Given the description of an element on the screen output the (x, y) to click on. 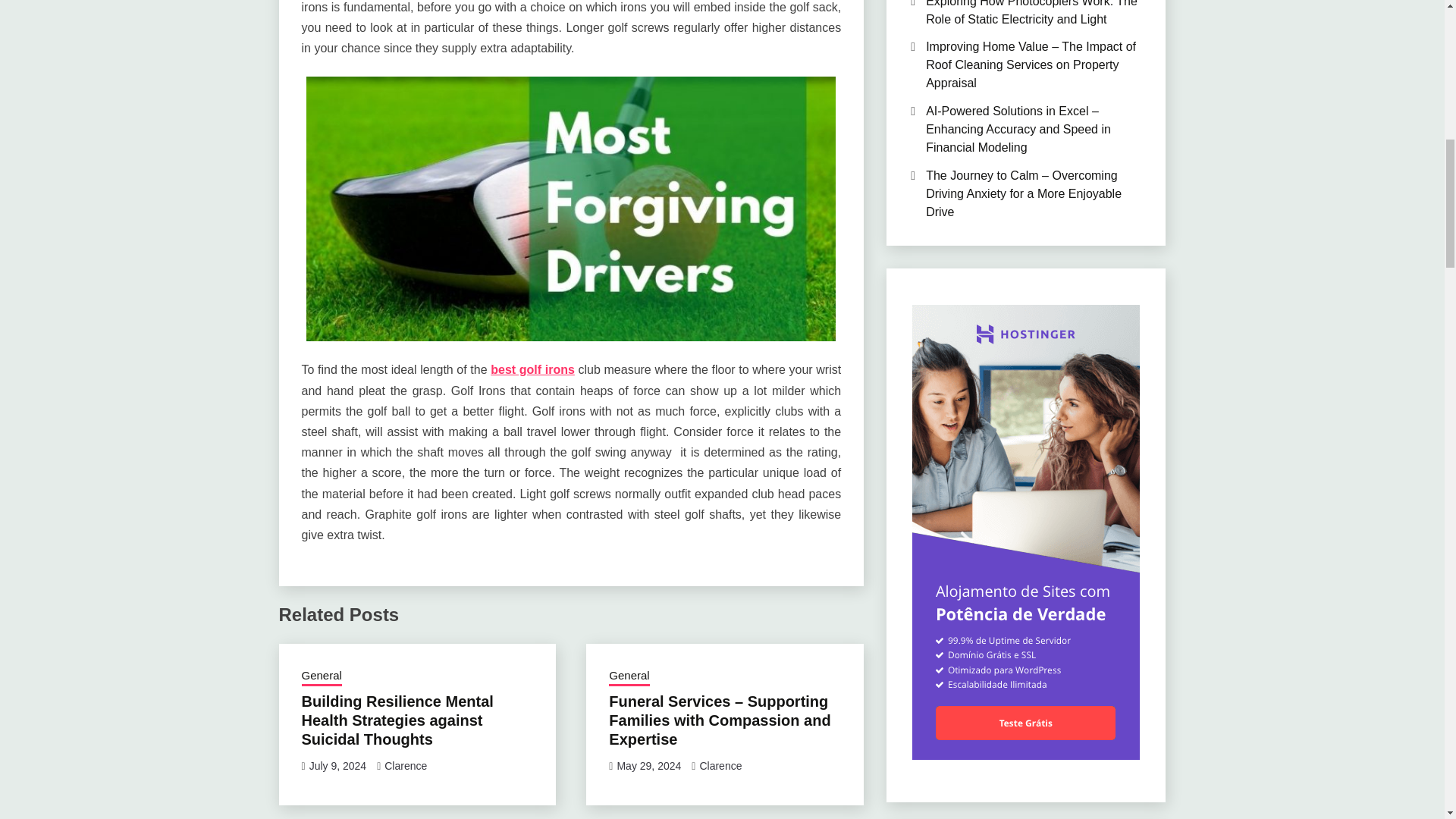
General (321, 677)
Clarence (405, 766)
best golf irons (532, 369)
Clarence (719, 766)
July 9, 2024 (337, 766)
General (628, 677)
May 29, 2024 (648, 766)
